Given the description of an element on the screen output the (x, y) to click on. 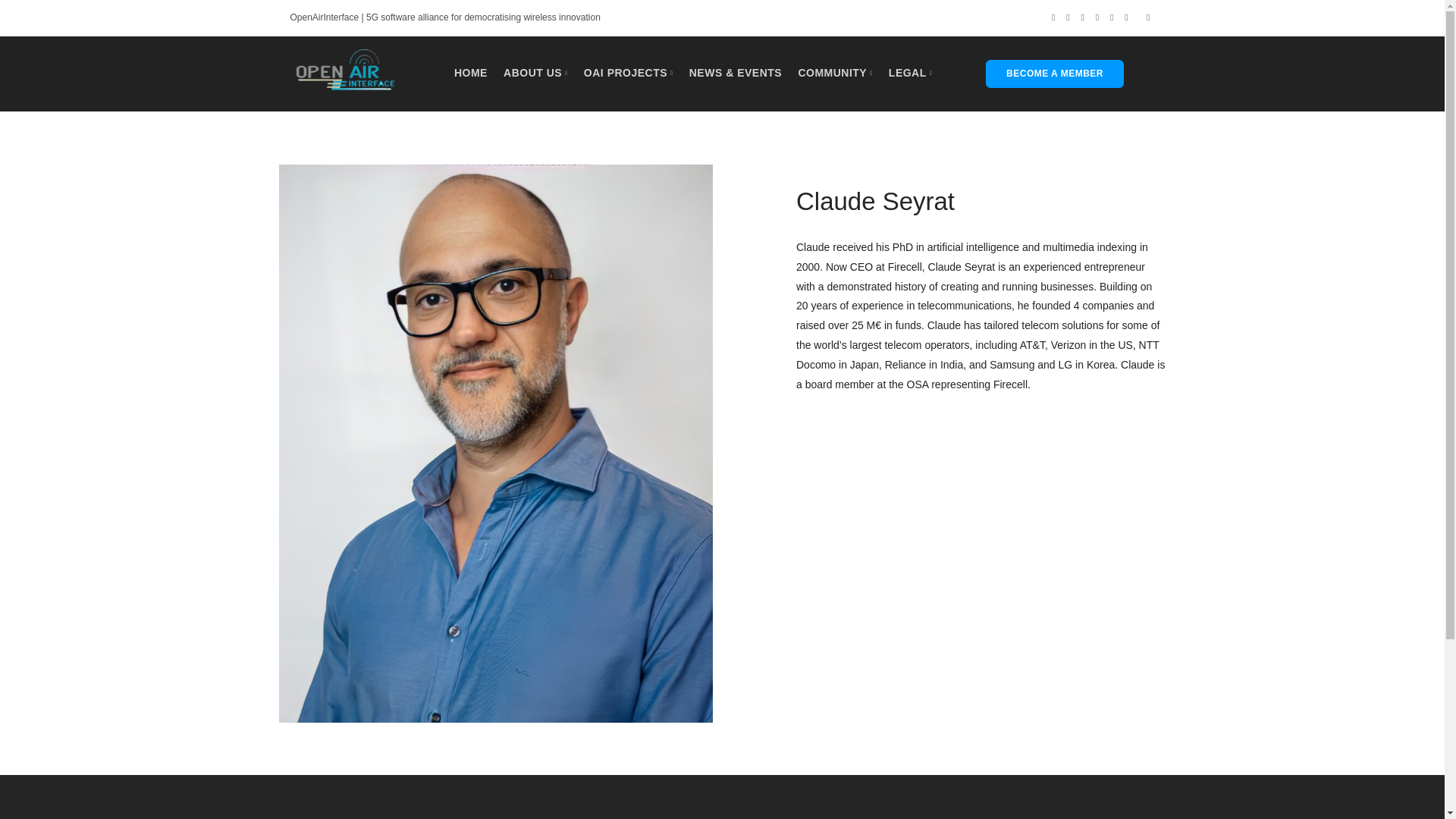
COMMUNITY (834, 72)
OAI PROJECTS (627, 72)
HOME (470, 72)
LEGAL (909, 72)
ABOUT US (535, 72)
BECOME A MEMBER (1053, 73)
